Given the description of an element on the screen output the (x, y) to click on. 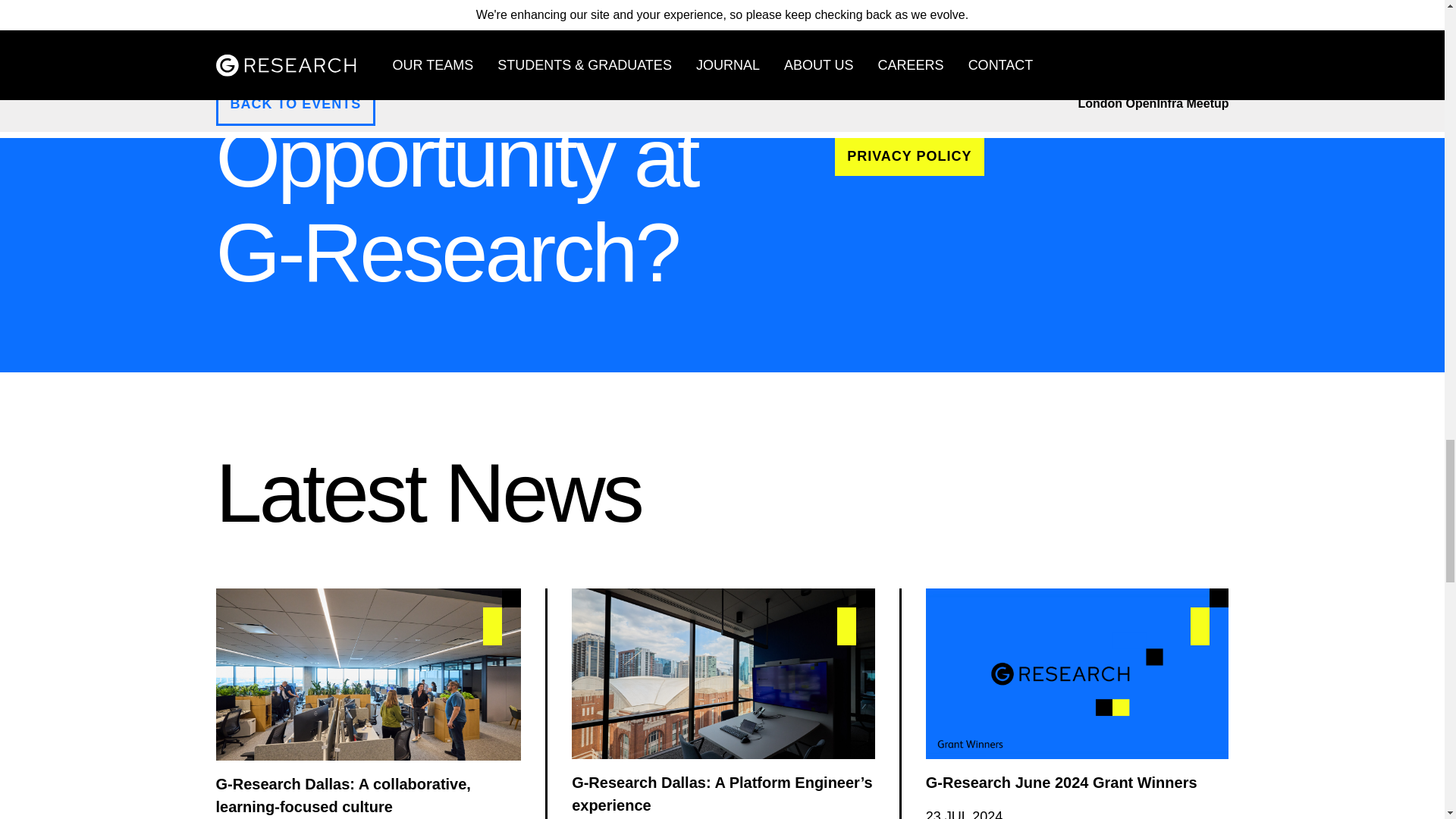
PRIVACY POLICY (909, 156)
